Given the description of an element on the screen output the (x, y) to click on. 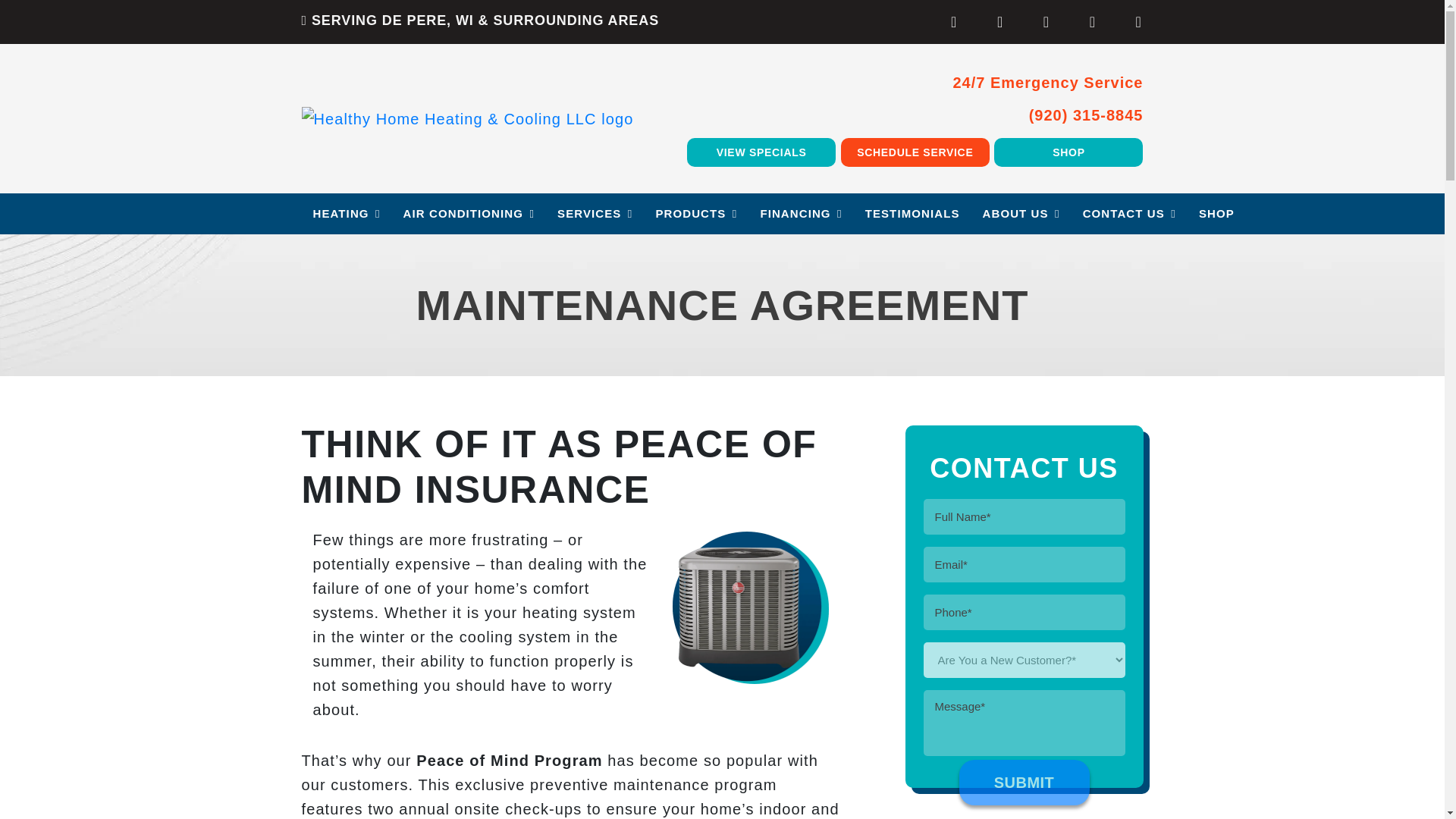
SCHEDULE SERVICE (915, 152)
ABOUT US (1021, 213)
Submit (1023, 782)
PRODUCTS (695, 213)
SHOP (1068, 152)
SERVICES (594, 213)
TESTIMONIALS (912, 213)
AIR CONDITIONING (468, 213)
HEATING (346, 213)
VIEW SPECIALS (761, 152)
